Given the description of an element on the screen output the (x, y) to click on. 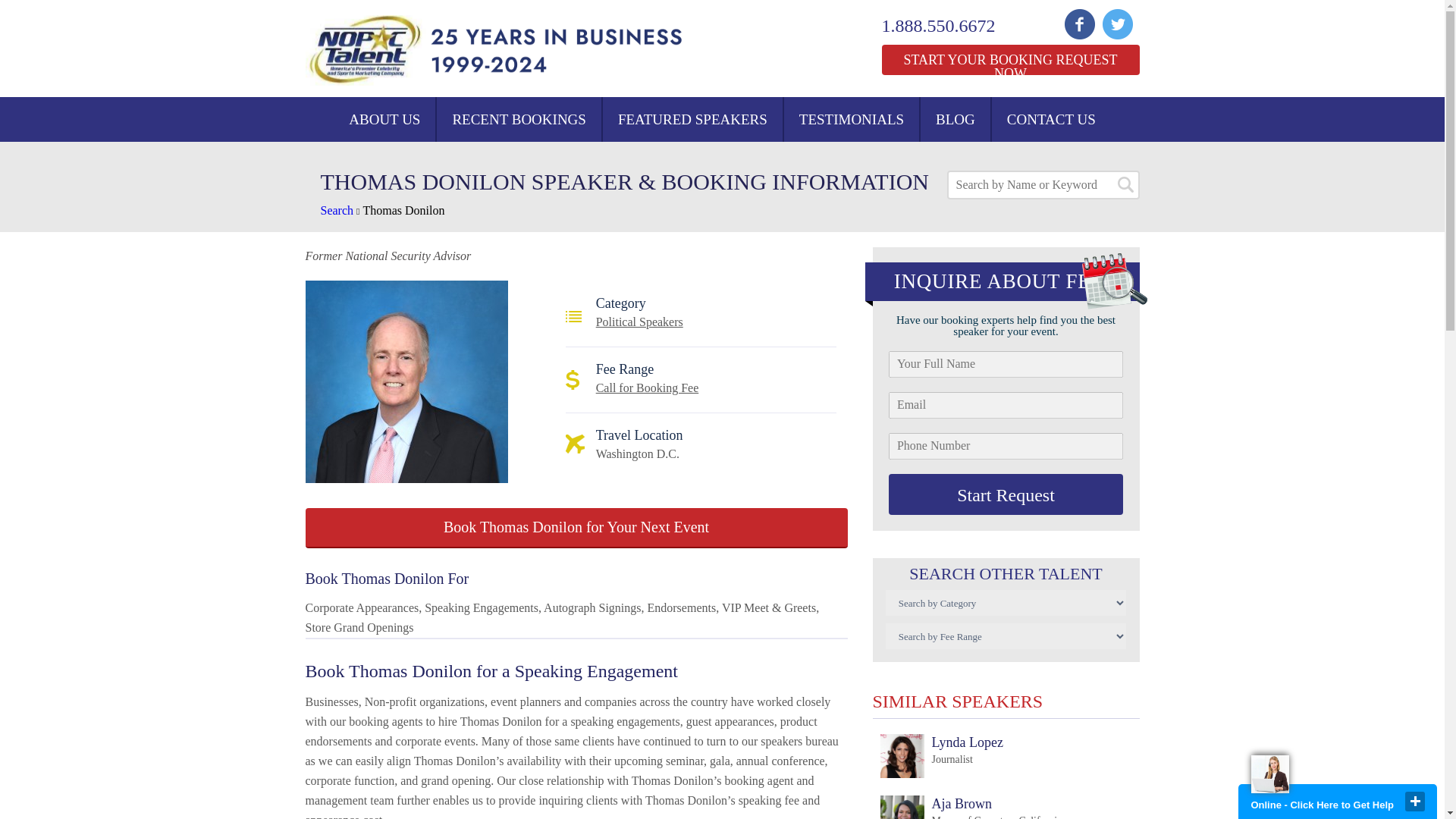
RECENT BOOKINGS (517, 119)
1.888.550.6672 (947, 25)
Thomas Donilon (403, 210)
BLOG (955, 119)
Call for Booking Fee (646, 387)
FEATURED SPEAKERS (692, 119)
Political Speakers (638, 321)
Book Thomas Donilon for Your Next Event (575, 527)
Start Request (1006, 494)
START YOUR BOOKING REQUEST NOW (1009, 60)
ABOUT US (384, 119)
Search (336, 210)
CONTACT US (941, 756)
